Given the description of an element on the screen output the (x, y) to click on. 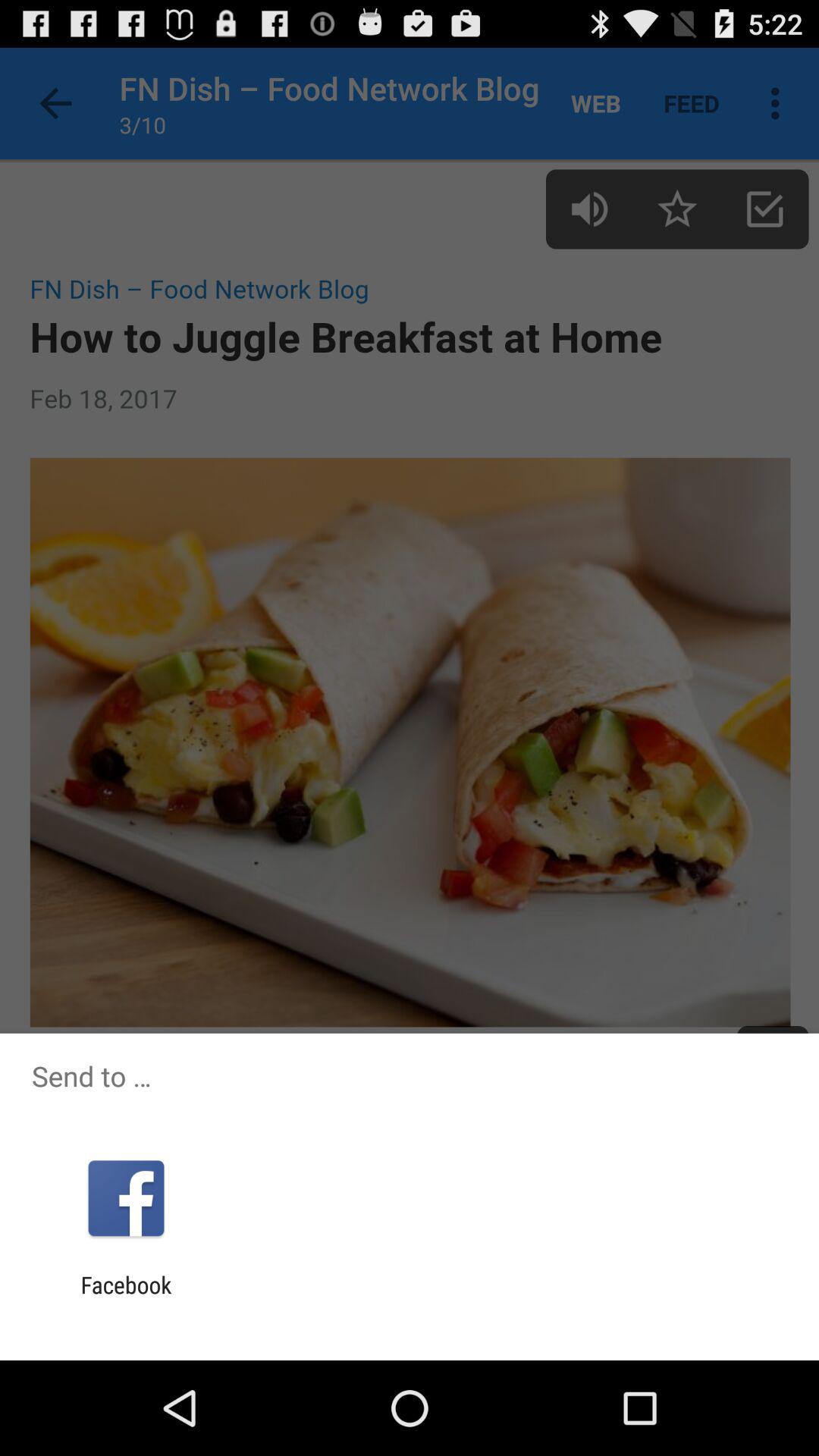
tap the app above the facebook (126, 1198)
